Given the description of an element on the screen output the (x, y) to click on. 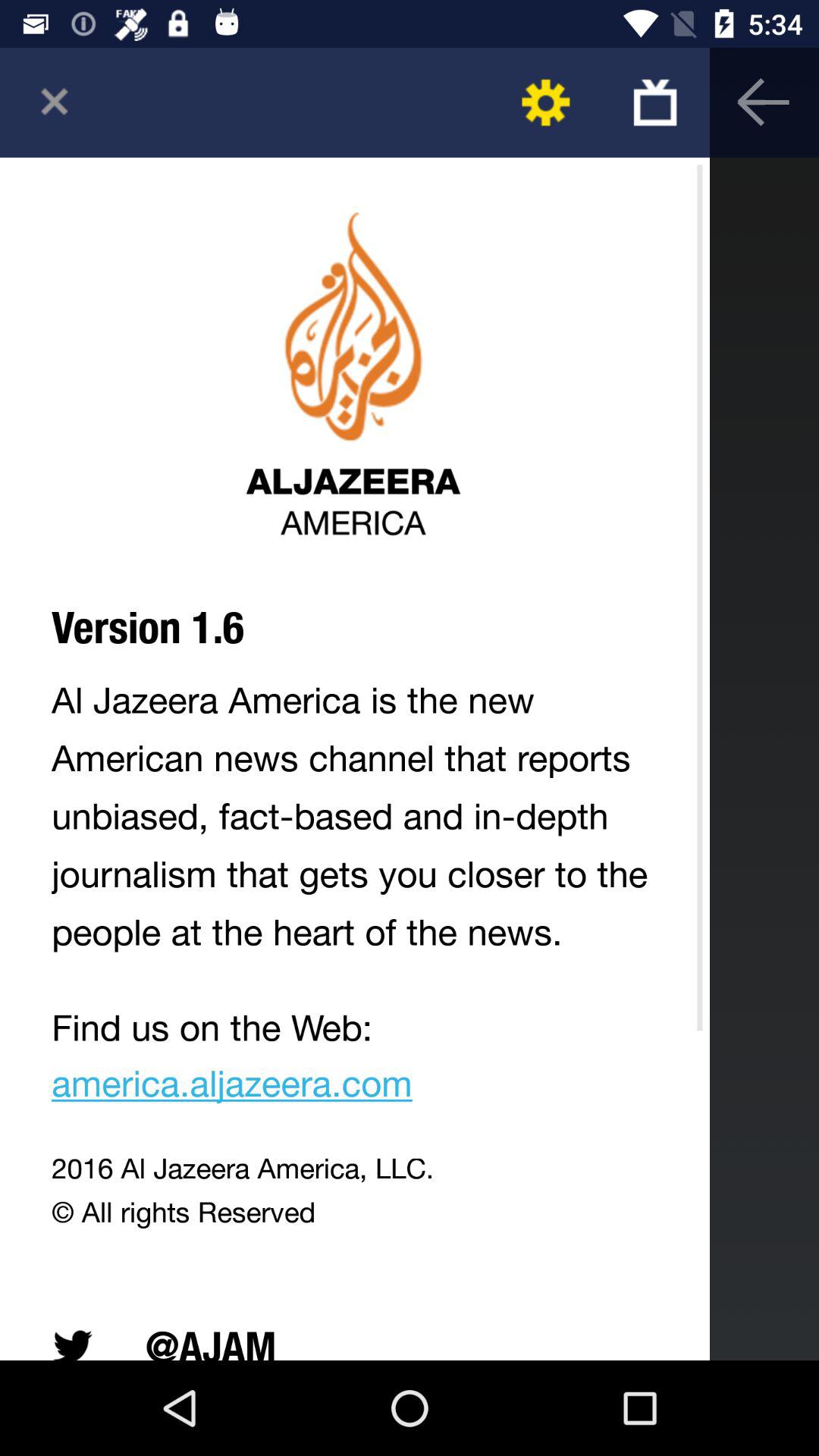
jump until find us on app (354, 1060)
